Given the description of an element on the screen output the (x, y) to click on. 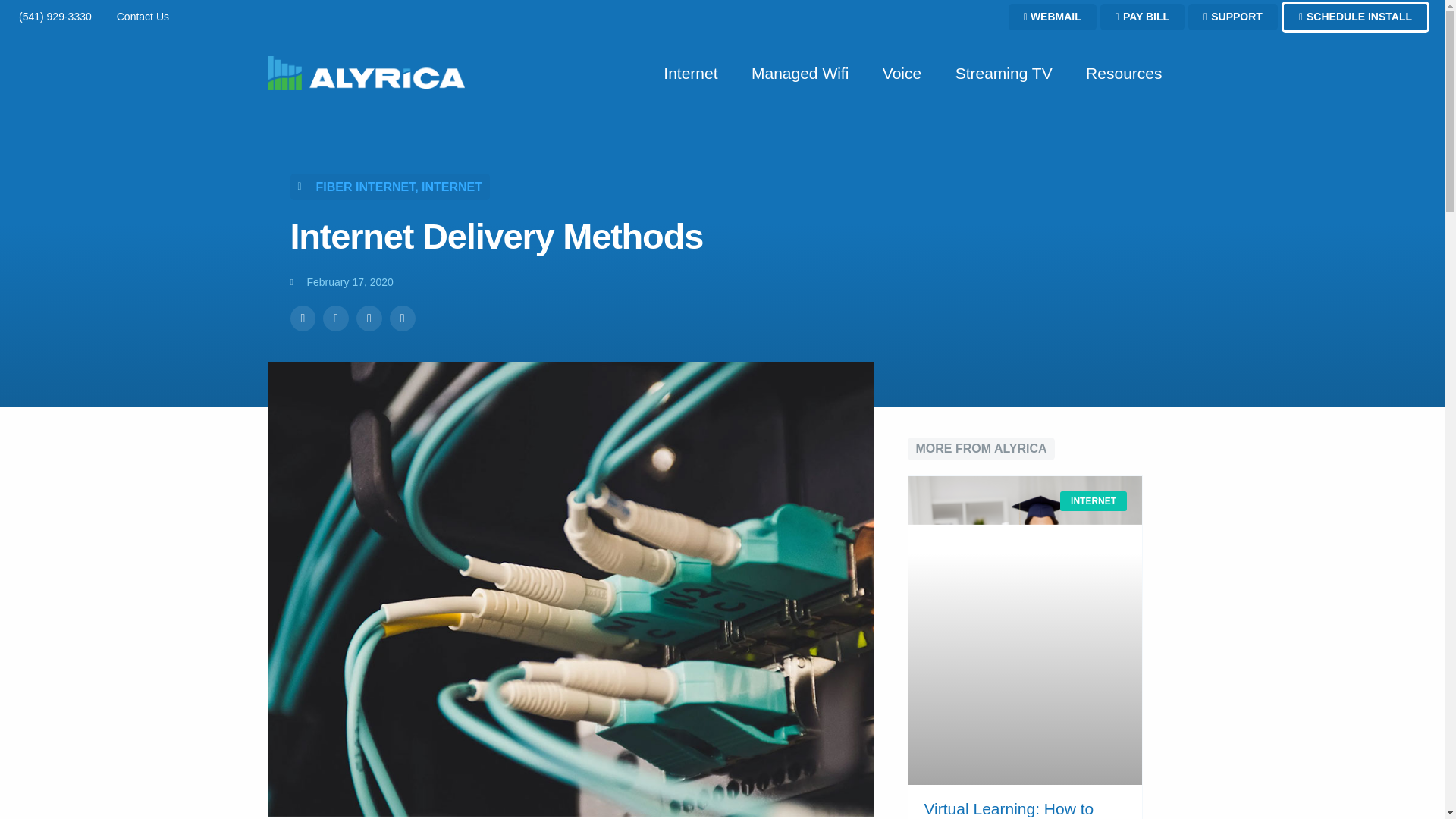
Managed Wifi (799, 73)
SUPPORT (1233, 17)
SCHEDULE INSTALL (1355, 16)
Internet (689, 73)
Resources (1123, 73)
Contact Us (140, 16)
Internet (689, 73)
Streaming TV (1003, 73)
WEBMAIL (1052, 17)
PAY BILL (1142, 17)
